Given the description of an element on the screen output the (x, y) to click on. 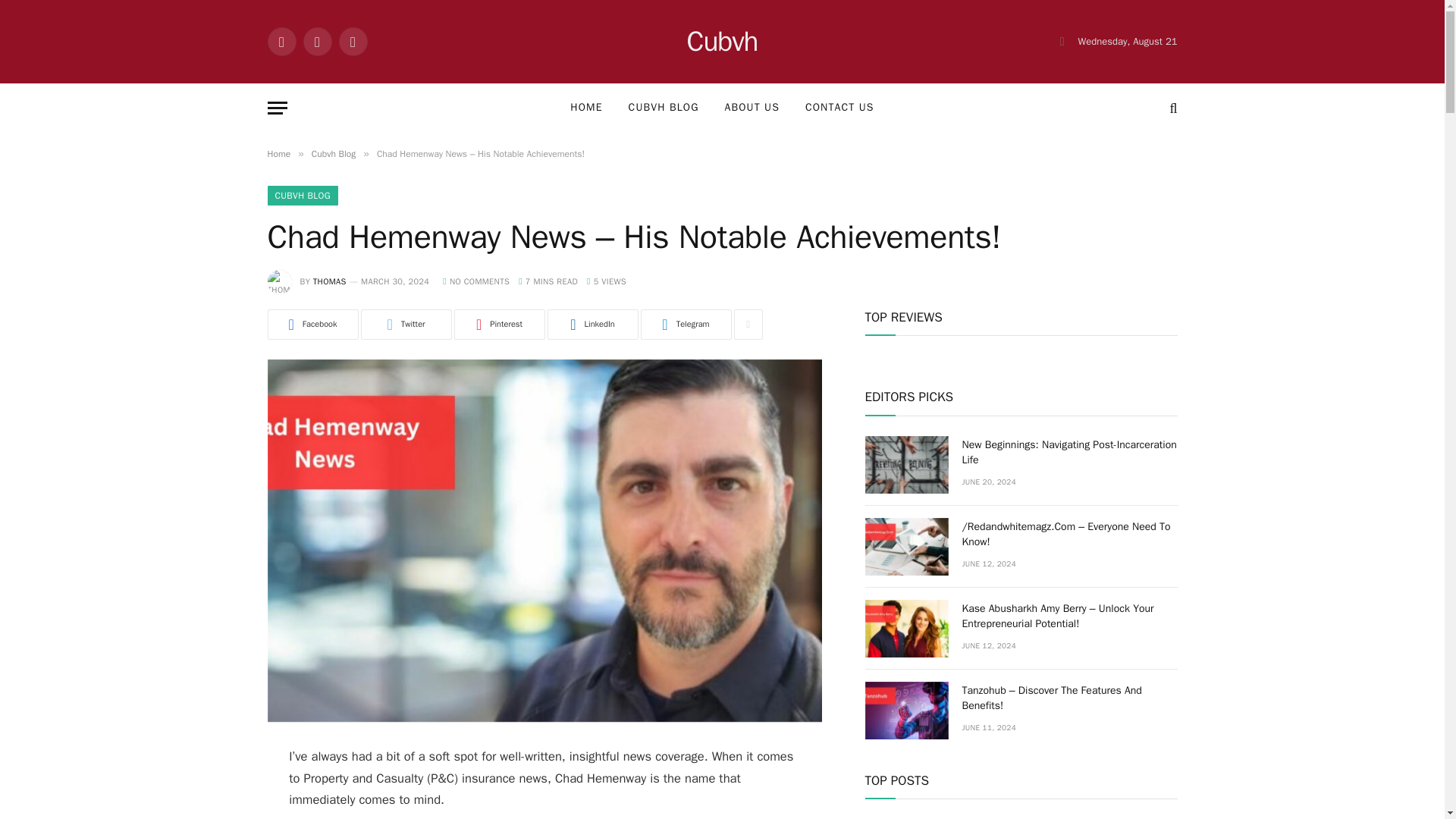
Home (277, 153)
ABOUT US (751, 107)
CUBVH BLOG (301, 195)
Pinterest (498, 324)
Cubvh Blog (333, 153)
Twitter (406, 324)
Posts by Thomas (329, 281)
Cubvh (721, 41)
CUBVH BLOG (663, 107)
HOME (585, 107)
